Given the description of an element on the screen output the (x, y) to click on. 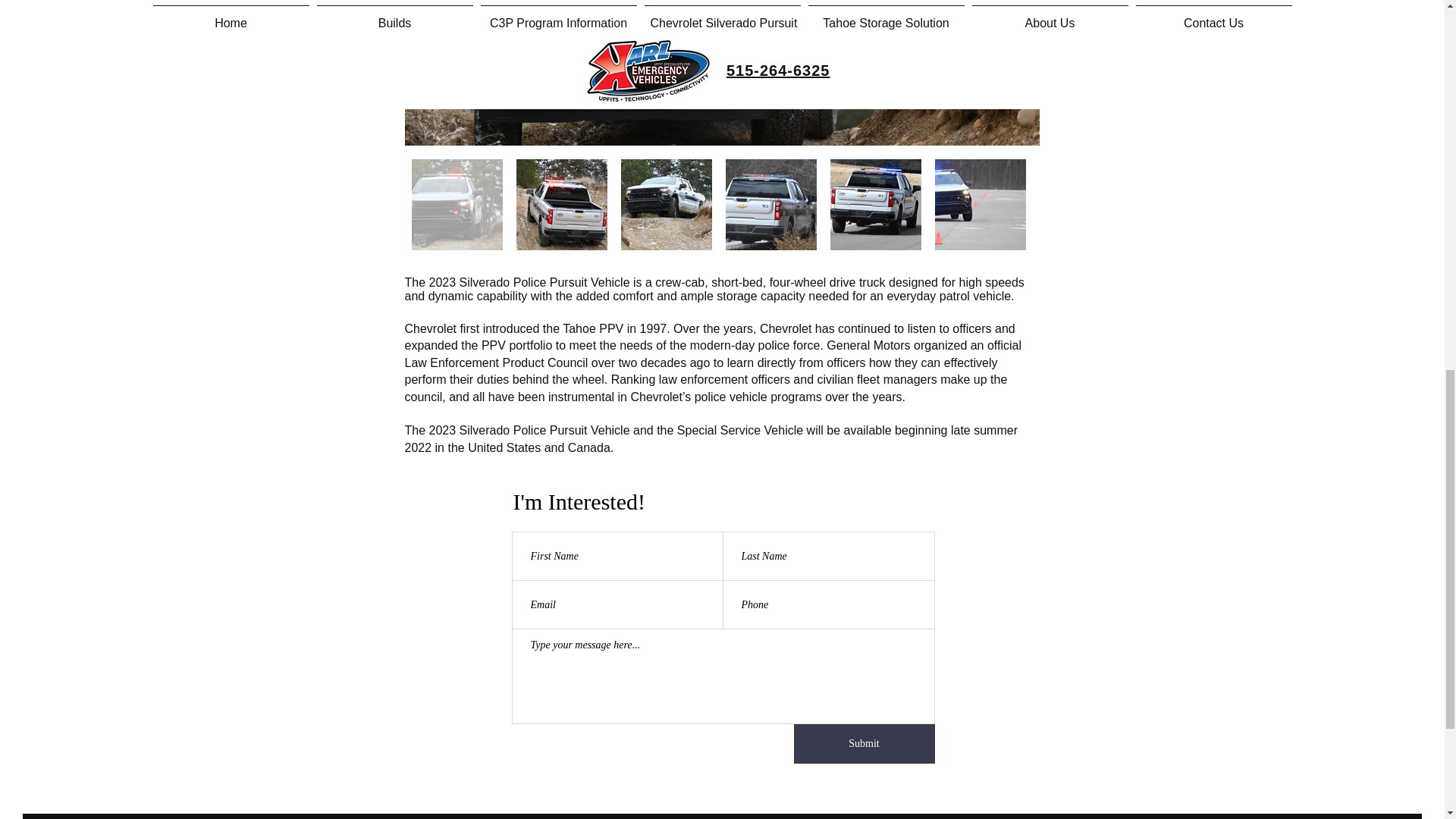
Submit (863, 743)
